Given the description of an element on the screen output the (x, y) to click on. 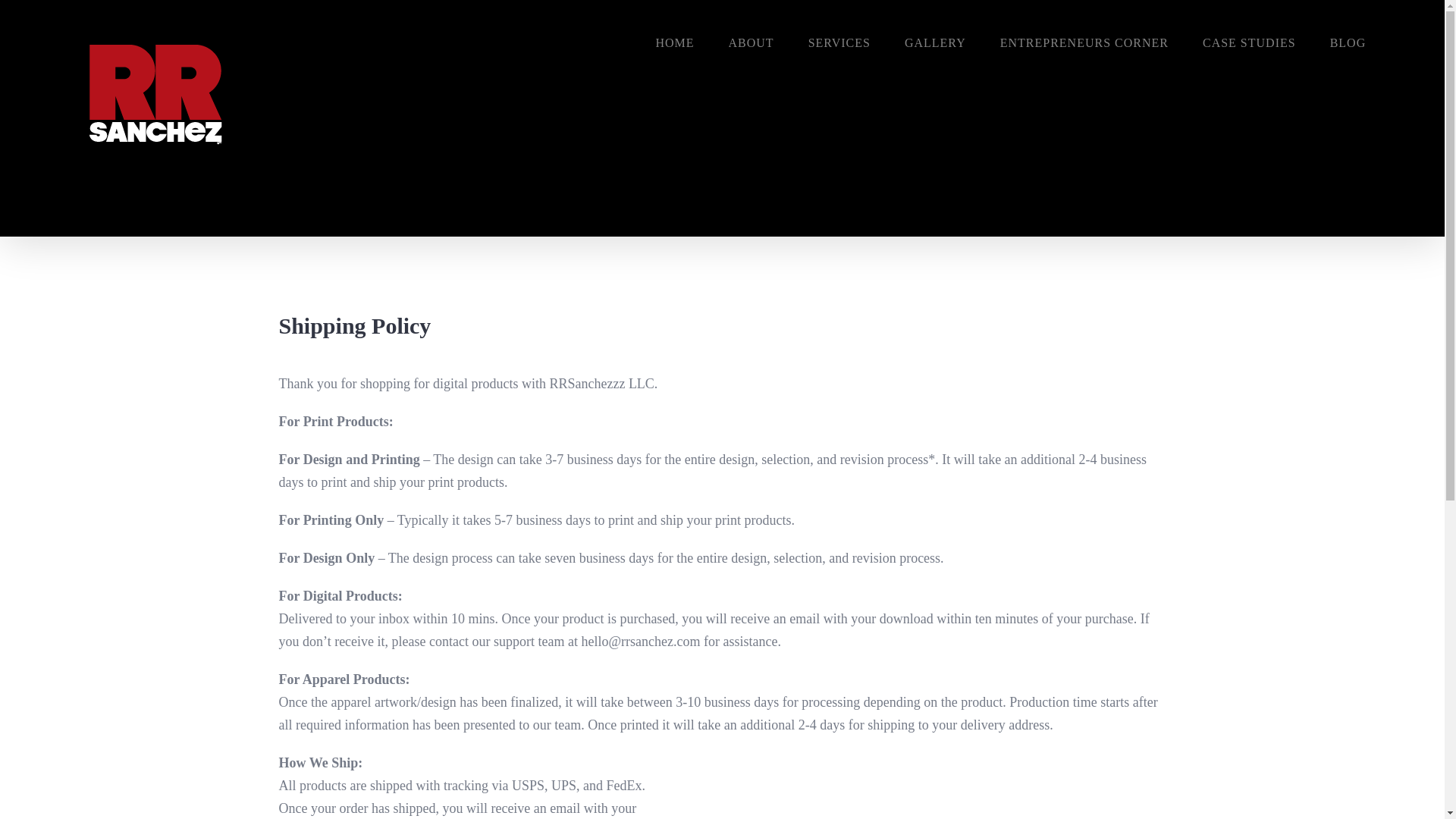
SERVICES (839, 42)
ENTREPRENEURS CORNER (1084, 42)
CASE STUDIES (1248, 42)
GALLERY (935, 42)
